Given the description of an element on the screen output the (x, y) to click on. 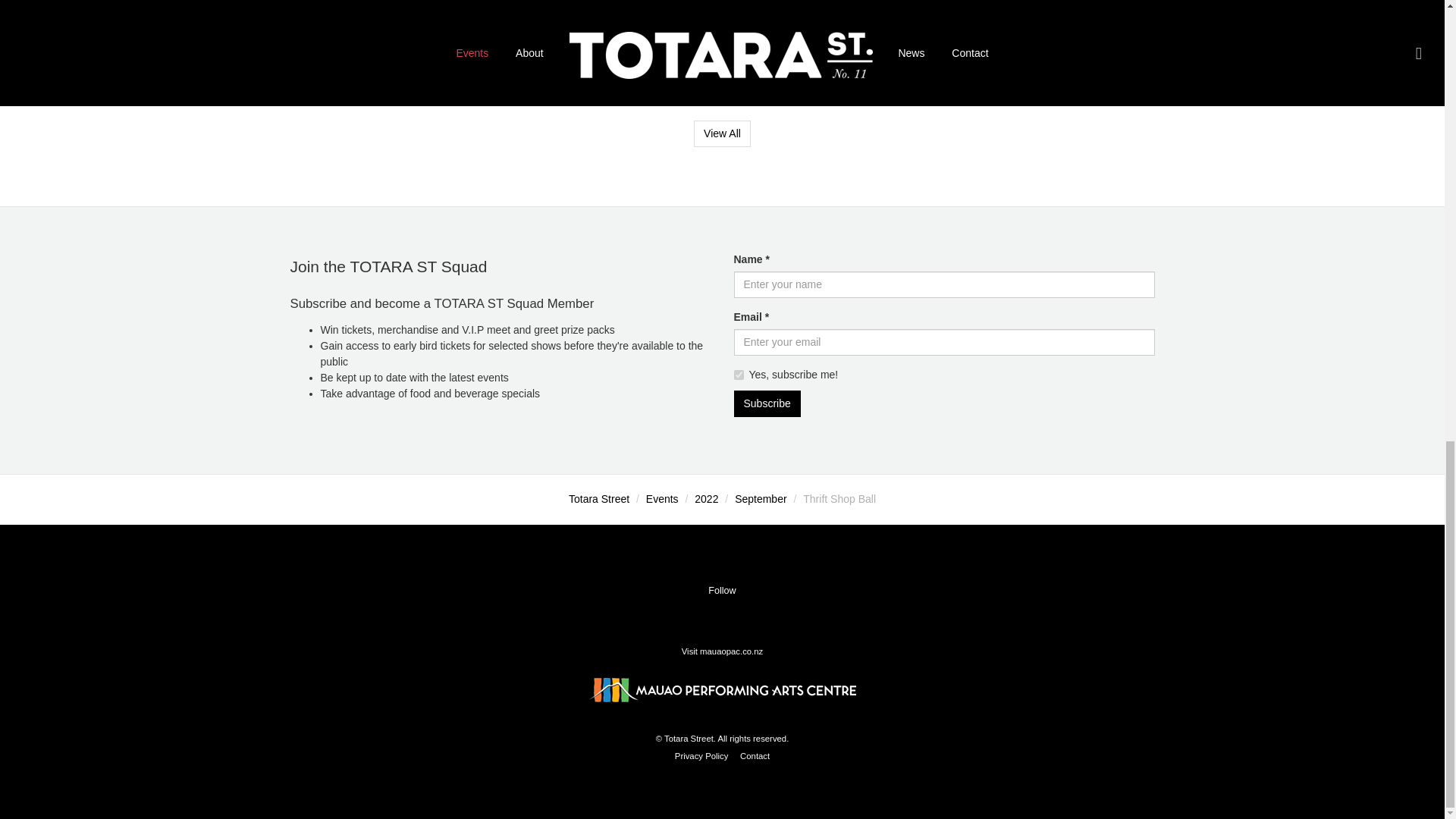
true (738, 375)
View All (722, 133)
Totara Street (598, 499)
Subscribe (766, 403)
Events (662, 499)
VENUE LAYOUT - STANDING ROOM ONLY (394, 76)
instagram (724, 617)
BUY TICKETS (323, 28)
Open in a new tab (751, 617)
September (760, 499)
FACEBOOK EVENT PAGE (353, 52)
youtube (751, 617)
Visit mauaopac.co.nz (721, 651)
2022 (705, 499)
Privacy Policy (702, 755)
